Given the description of an element on the screen output the (x, y) to click on. 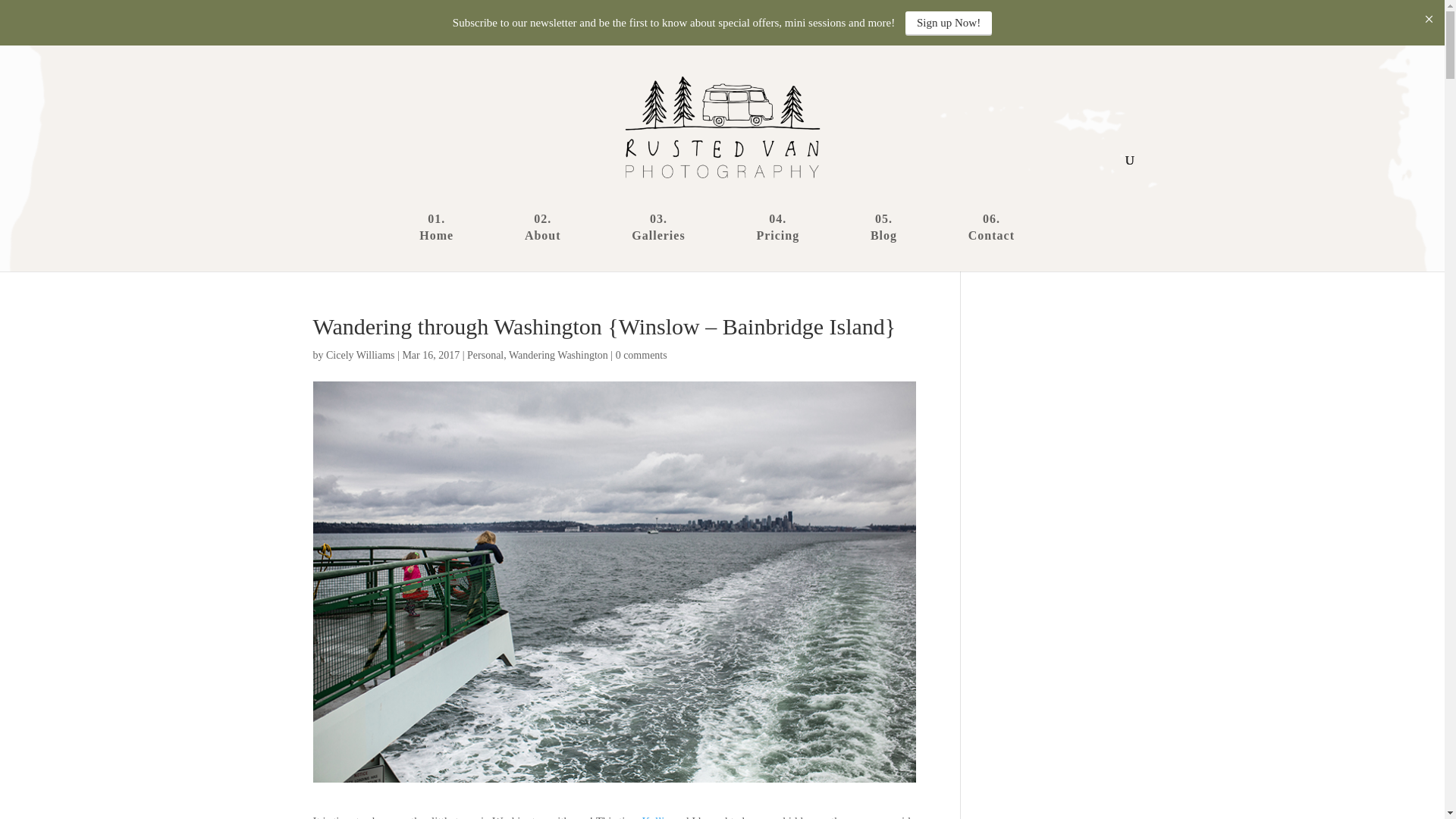
Posts by Cicely Williams (360, 355)
0 comments (640, 355)
Galleries (657, 242)
Personal (485, 355)
Kellie (657, 816)
Cicely Williams (360, 355)
Wandering Washington (558, 355)
